Given the description of an element on the screen output the (x, y) to click on. 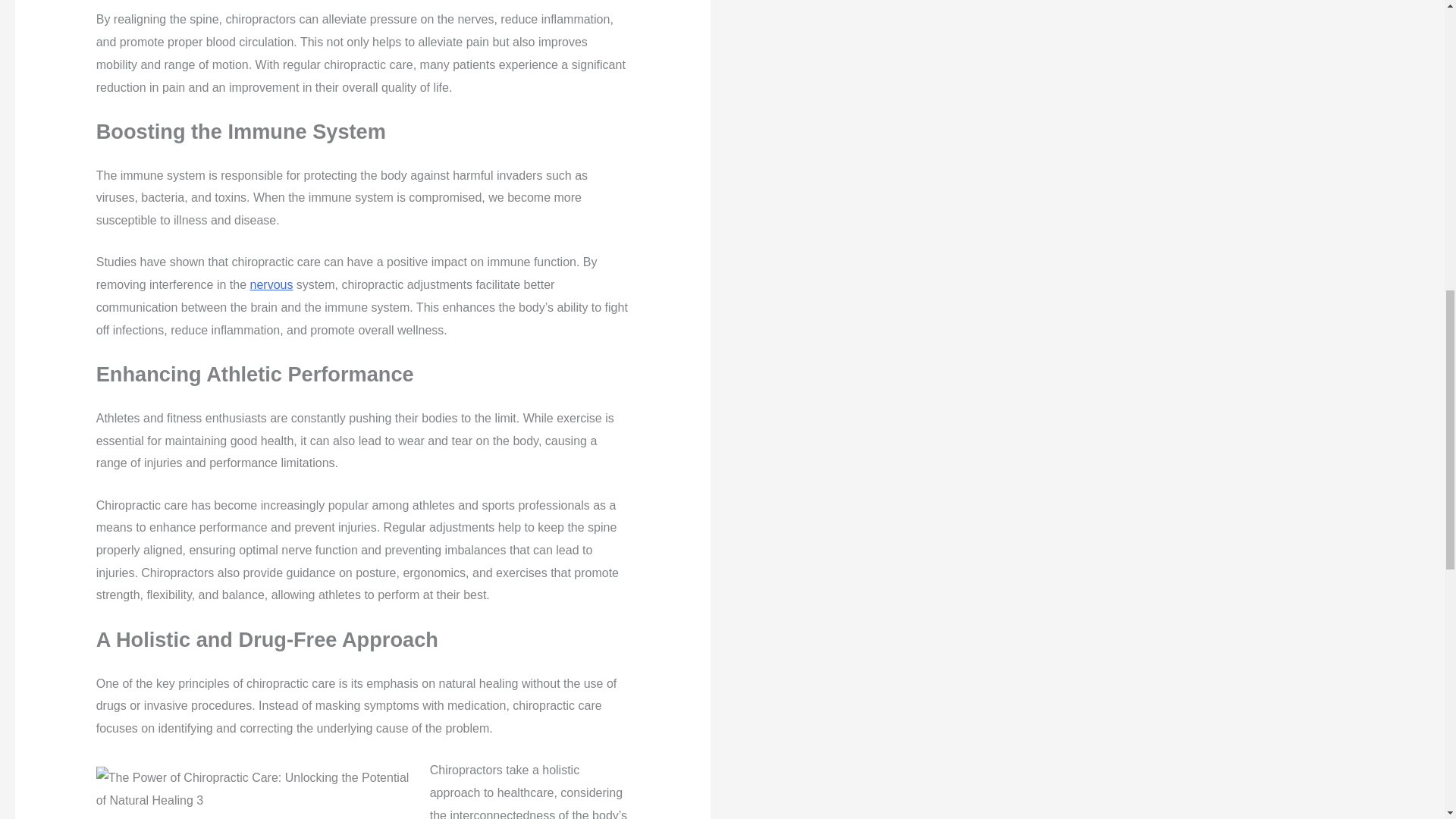
nervous (272, 284)
